Given the description of an element on the screen output the (x, y) to click on. 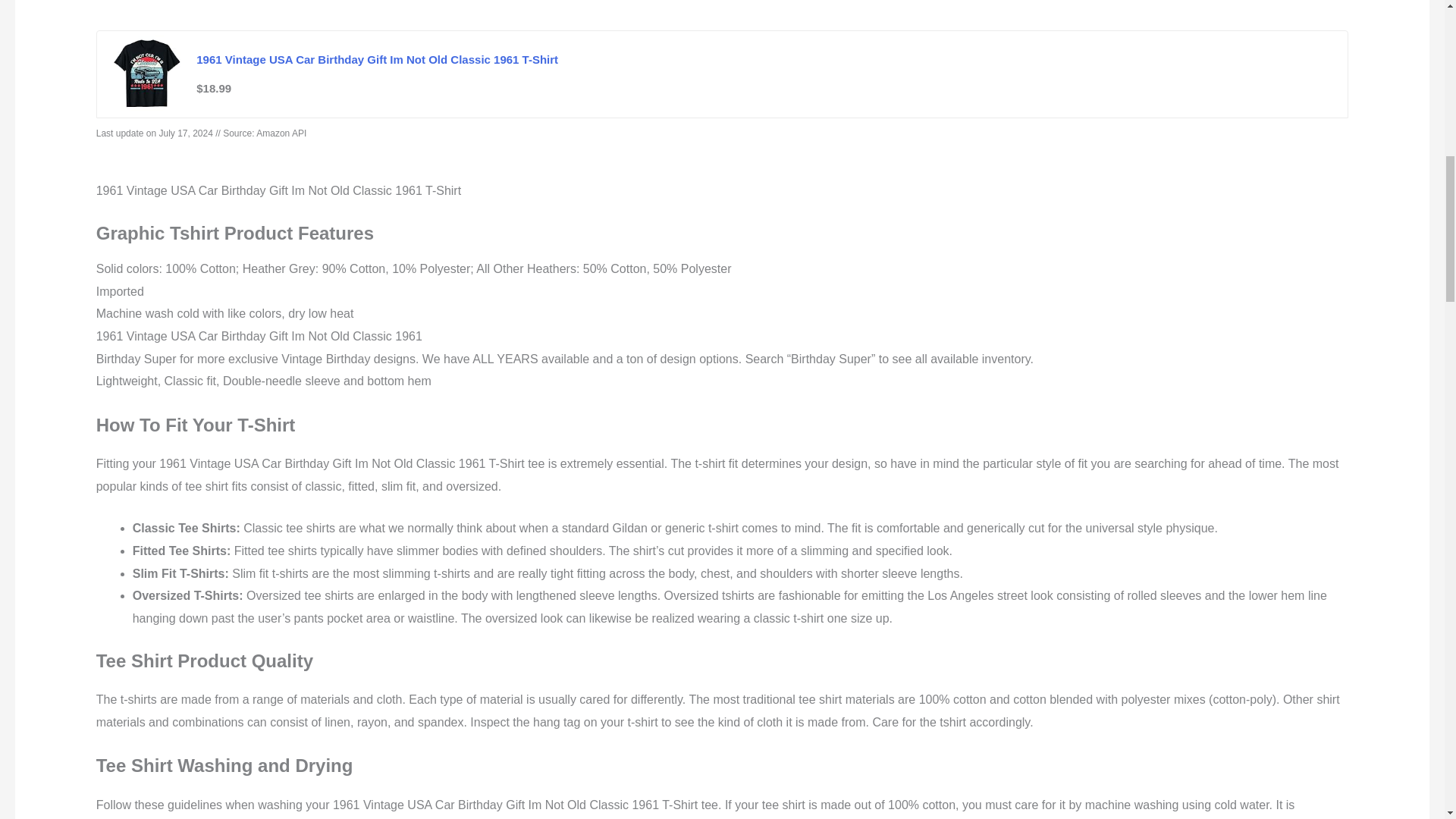
T-Shirt Sizing (354, 5)
Additional information (239, 5)
Description (129, 5)
